Given the description of an element on the screen output the (x, y) to click on. 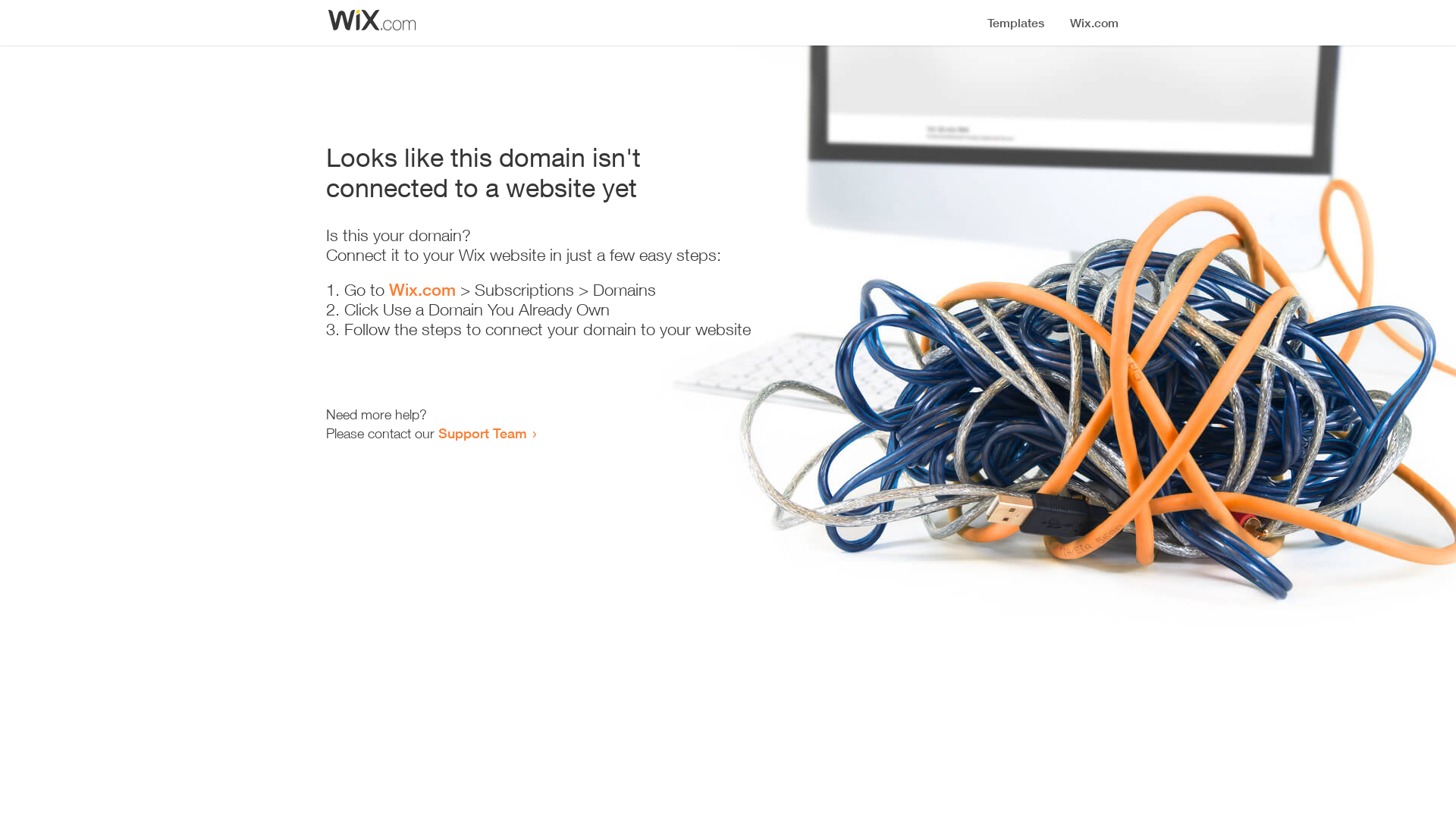
Support Team Element type: text (482, 432)
Wix.com Element type: text (422, 289)
